Given the description of an element on the screen output the (x, y) to click on. 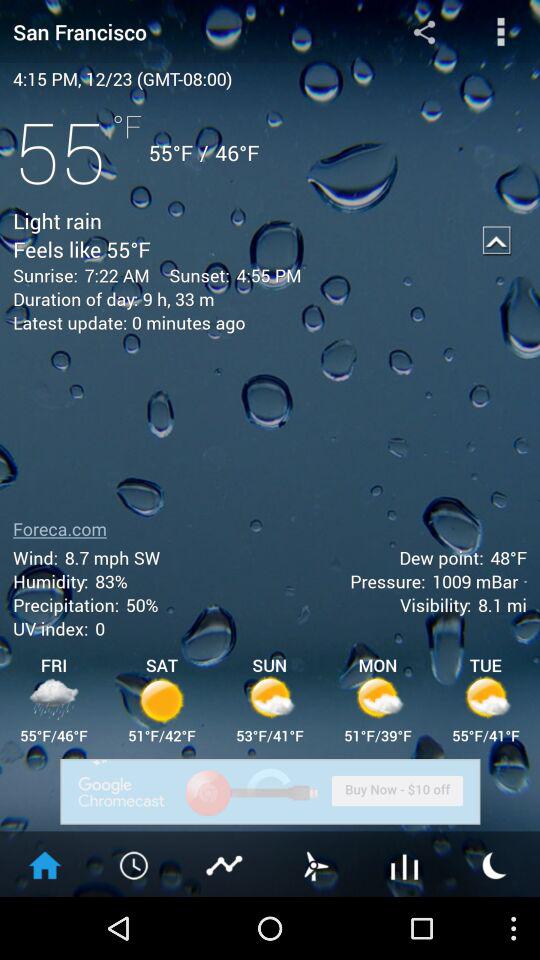
be redirected to purchase google chrome nest for ten dollars off (270, 791)
